Given the description of an element on the screen output the (x, y) to click on. 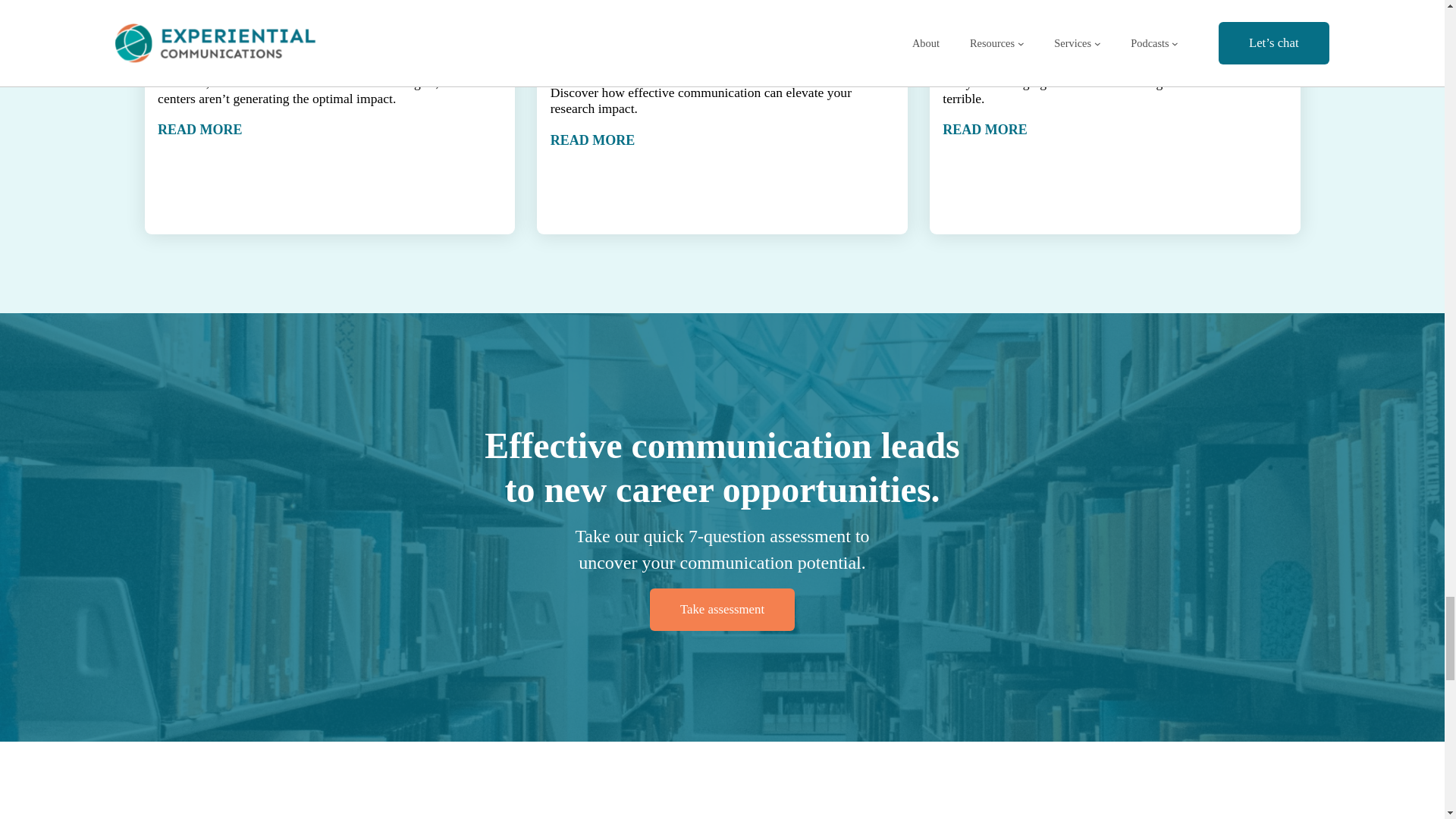
Take assessment (721, 609)
READ MORE (722, 139)
READ MORE (329, 129)
READ MORE (1114, 129)
